Given the description of an element on the screen output the (x, y) to click on. 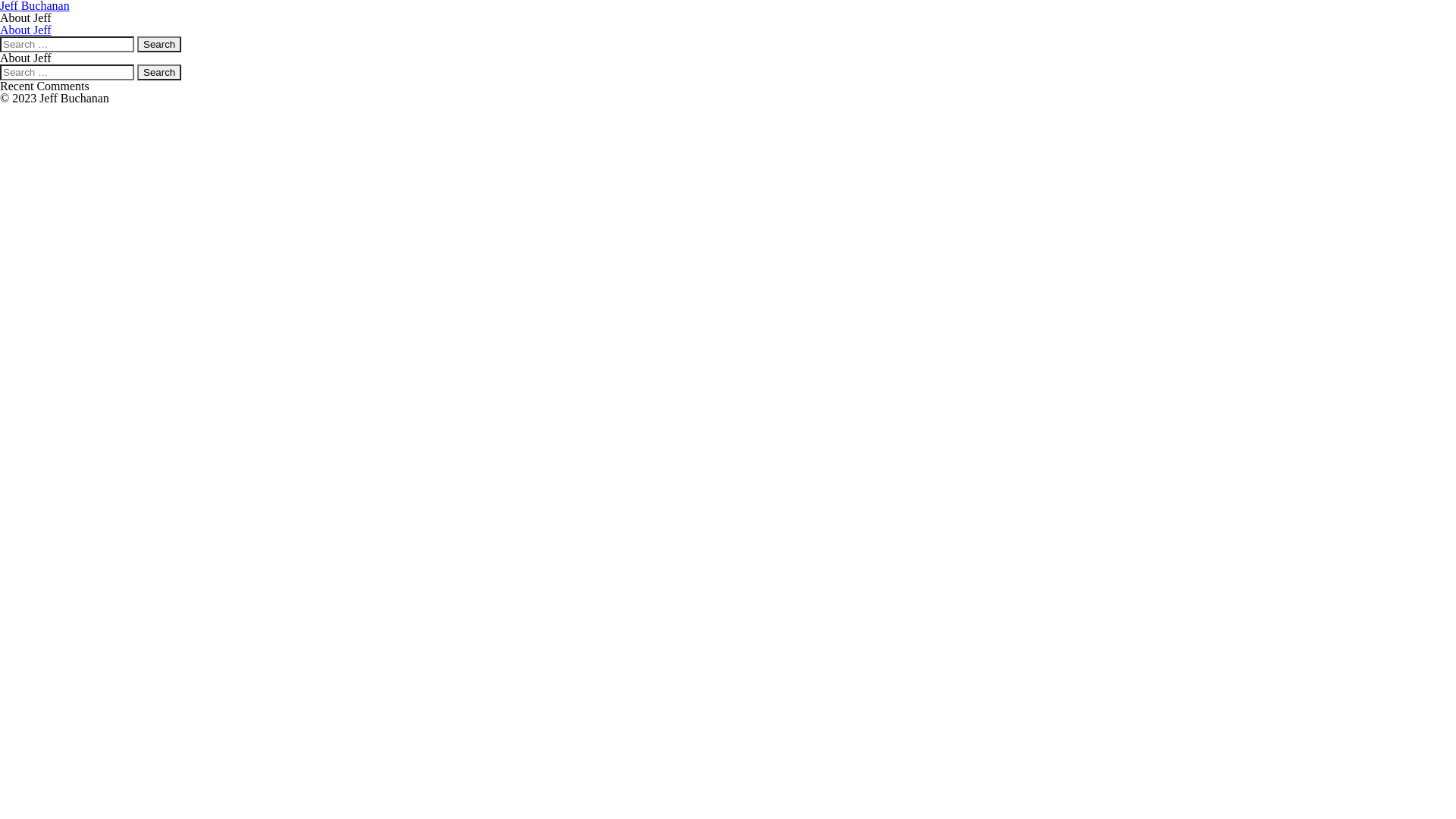
Search Element type: text (159, 72)
About Jeff Element type: text (25, 29)
Search Element type: text (159, 44)
